Given the description of an element on the screen output the (x, y) to click on. 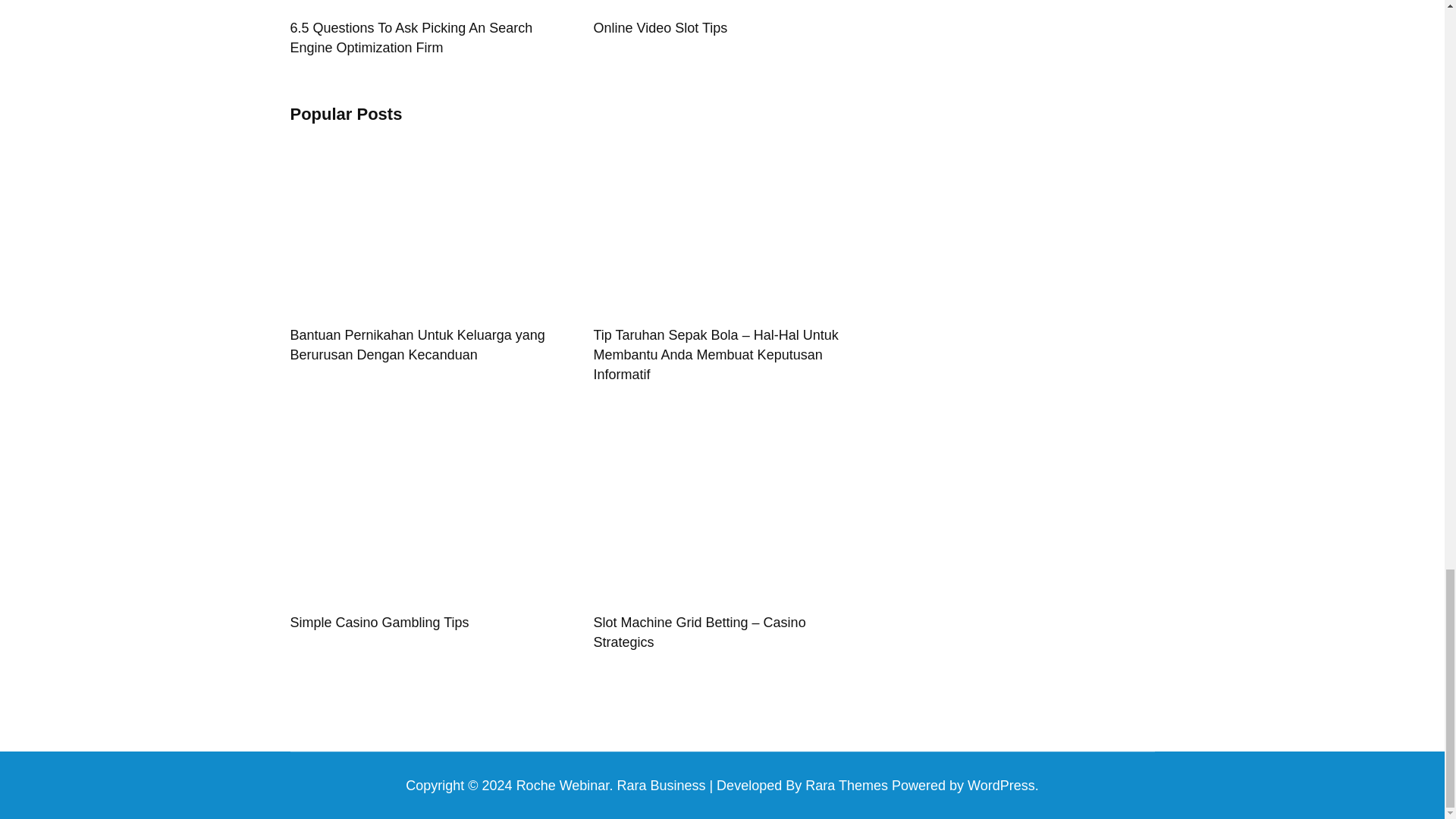
Online Video Slot Tips (659, 28)
Simple Casino Gambling Tips (378, 622)
